Given the description of an element on the screen output the (x, y) to click on. 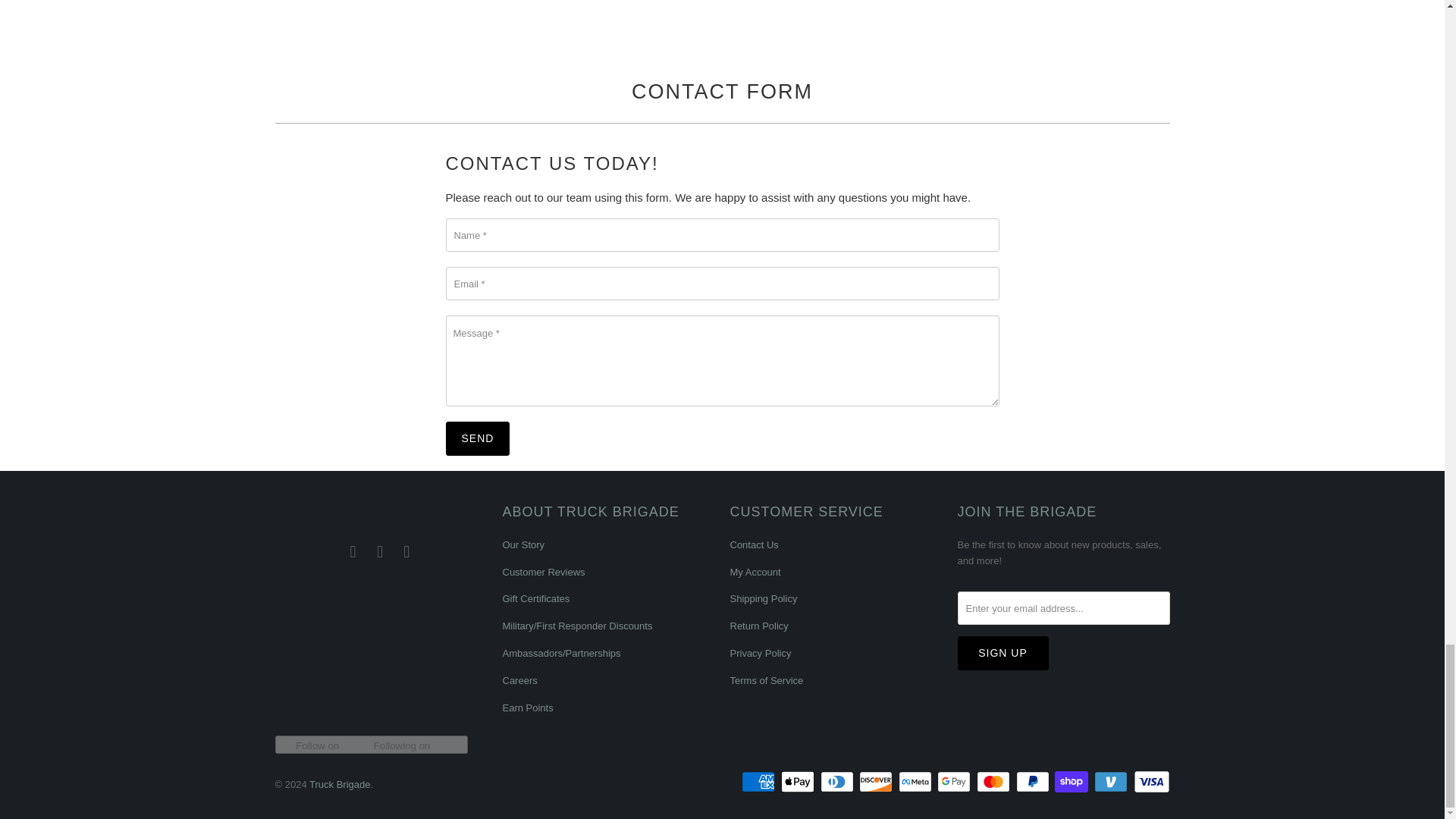
Truck Brigade on Facebook (353, 551)
Sign Up (1002, 653)
Send (478, 438)
